Given the description of an element on the screen output the (x, y) to click on. 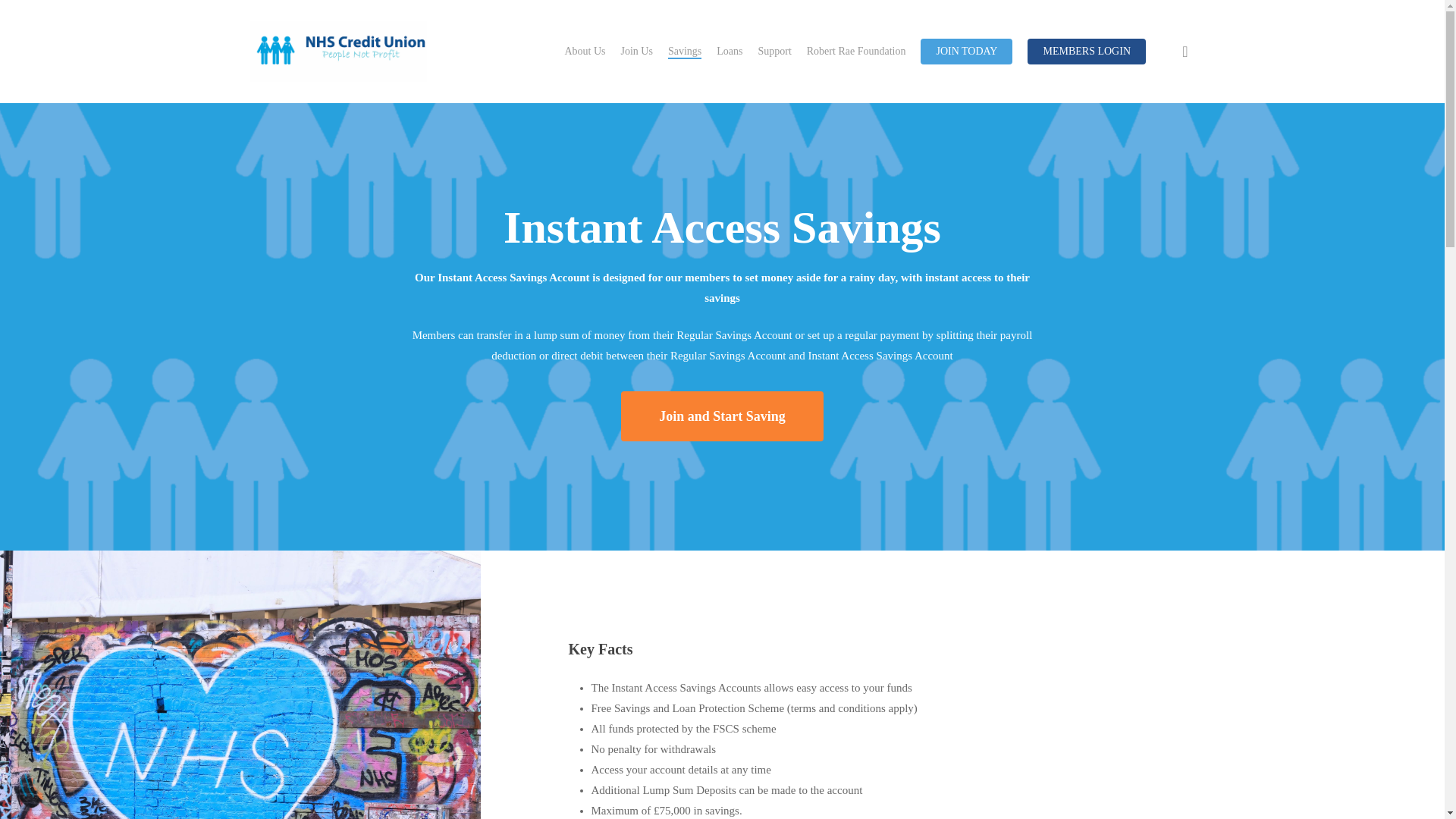
About Us (584, 51)
Savings (684, 51)
Join Us (636, 51)
Robert Rae Foundation (855, 51)
JOIN TODAY (965, 51)
Support (773, 51)
MEMBERS LOGIN (1086, 51)
Join and Start Saving (722, 416)
search (1184, 51)
Loans (729, 51)
